Given the description of an element on the screen output the (x, y) to click on. 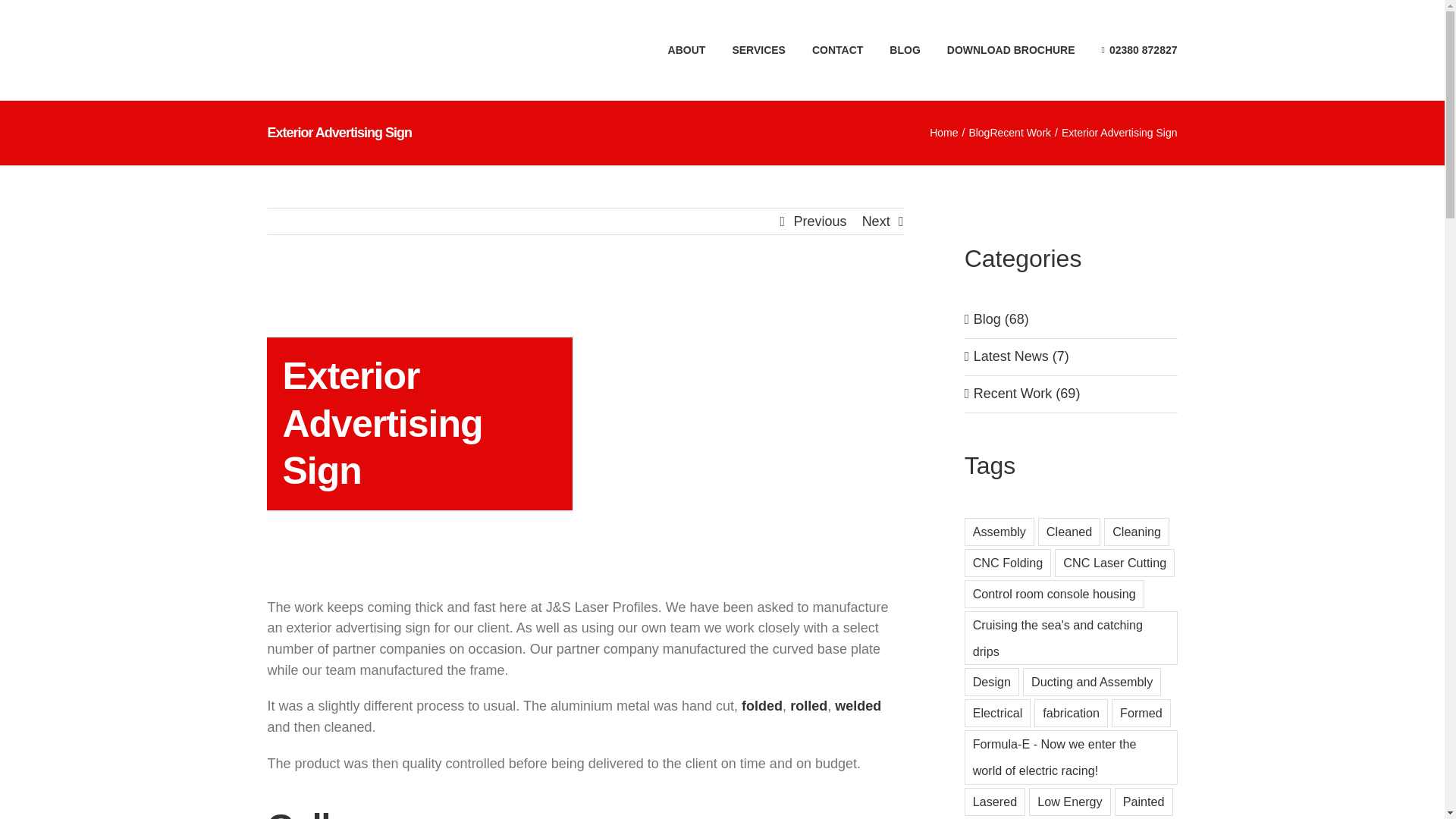
Next (875, 221)
Previous (820, 221)
Recent Work (1020, 132)
folded (762, 705)
Blog (979, 132)
Gallery (584, 812)
DOWNLOAD BROCHURE (1011, 49)
Home (944, 132)
rolled (808, 705)
